Given the description of an element on the screen output the (x, y) to click on. 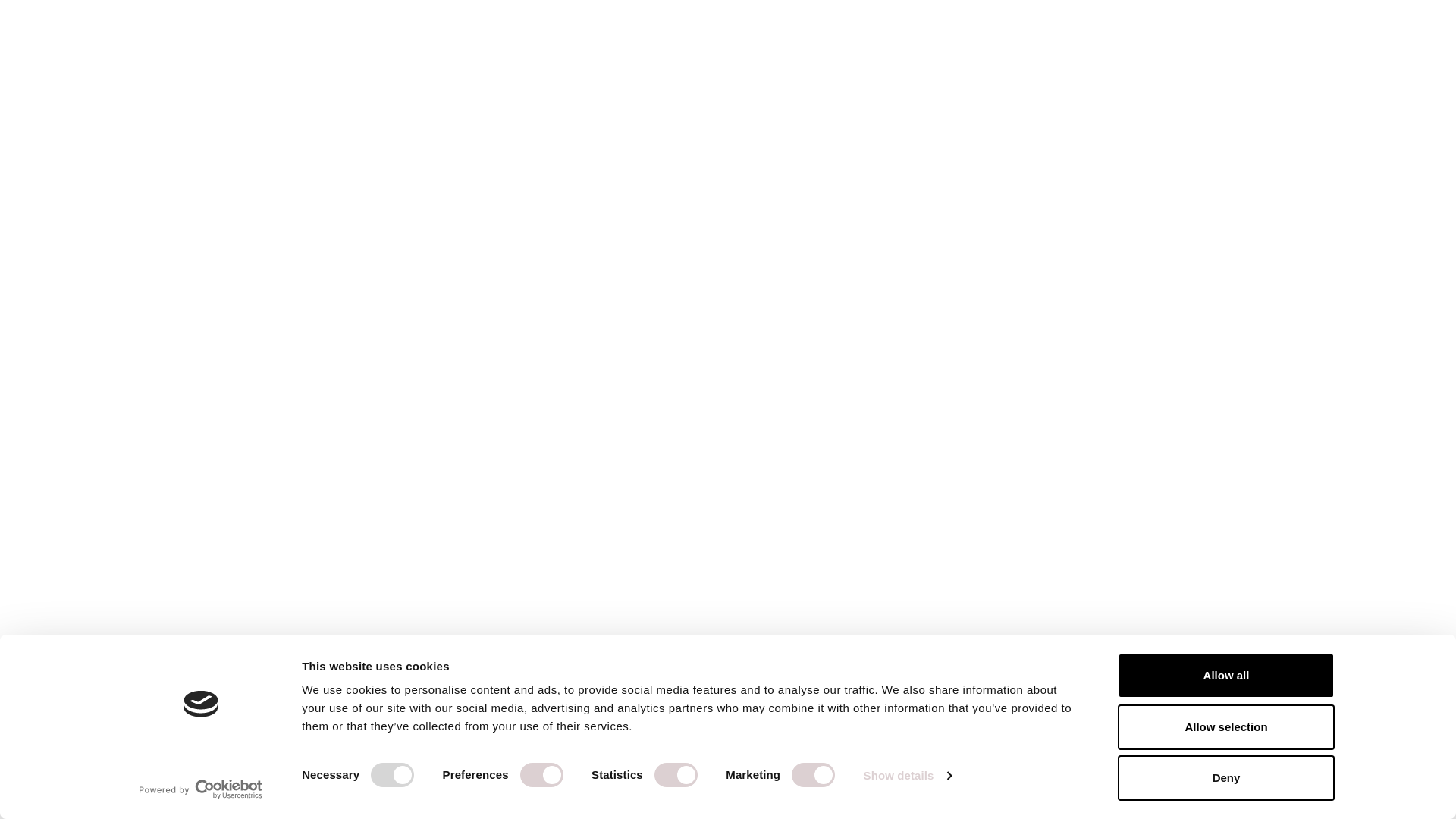
Open search bar (1323, 32)
